Given the description of an element on the screen output the (x, y) to click on. 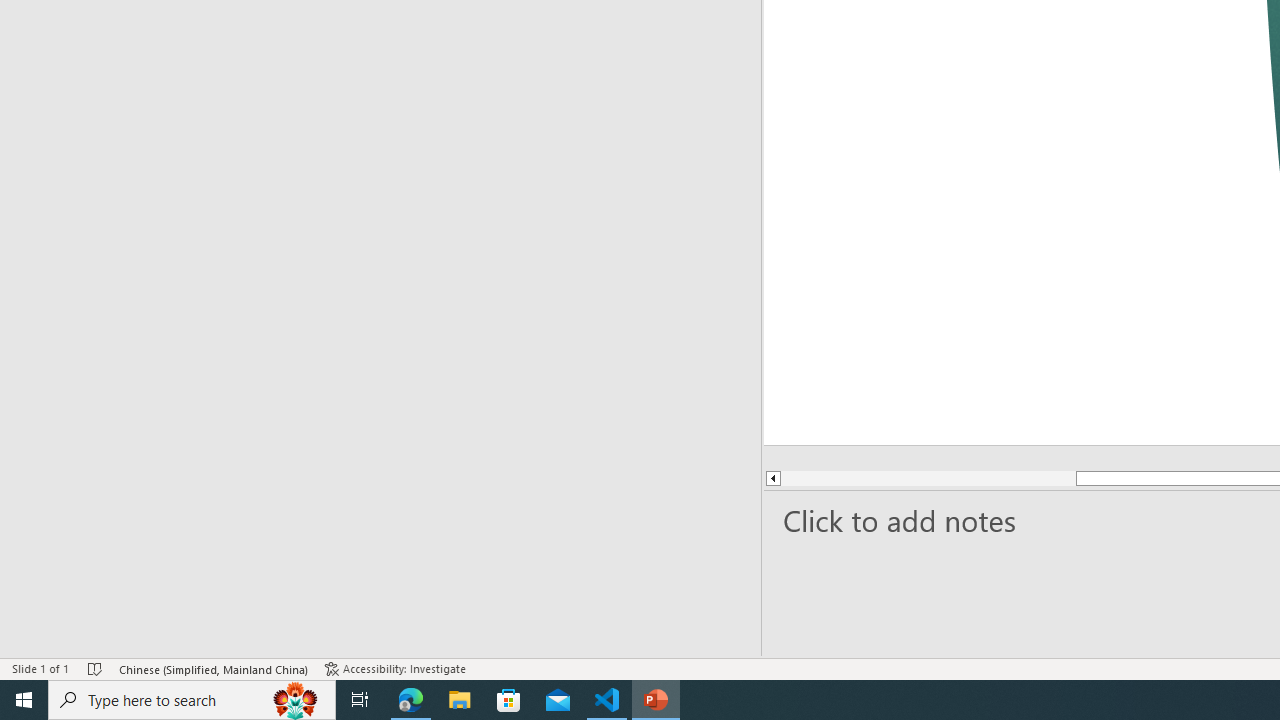
Page up (868, 478)
